Given the description of an element on the screen output the (x, y) to click on. 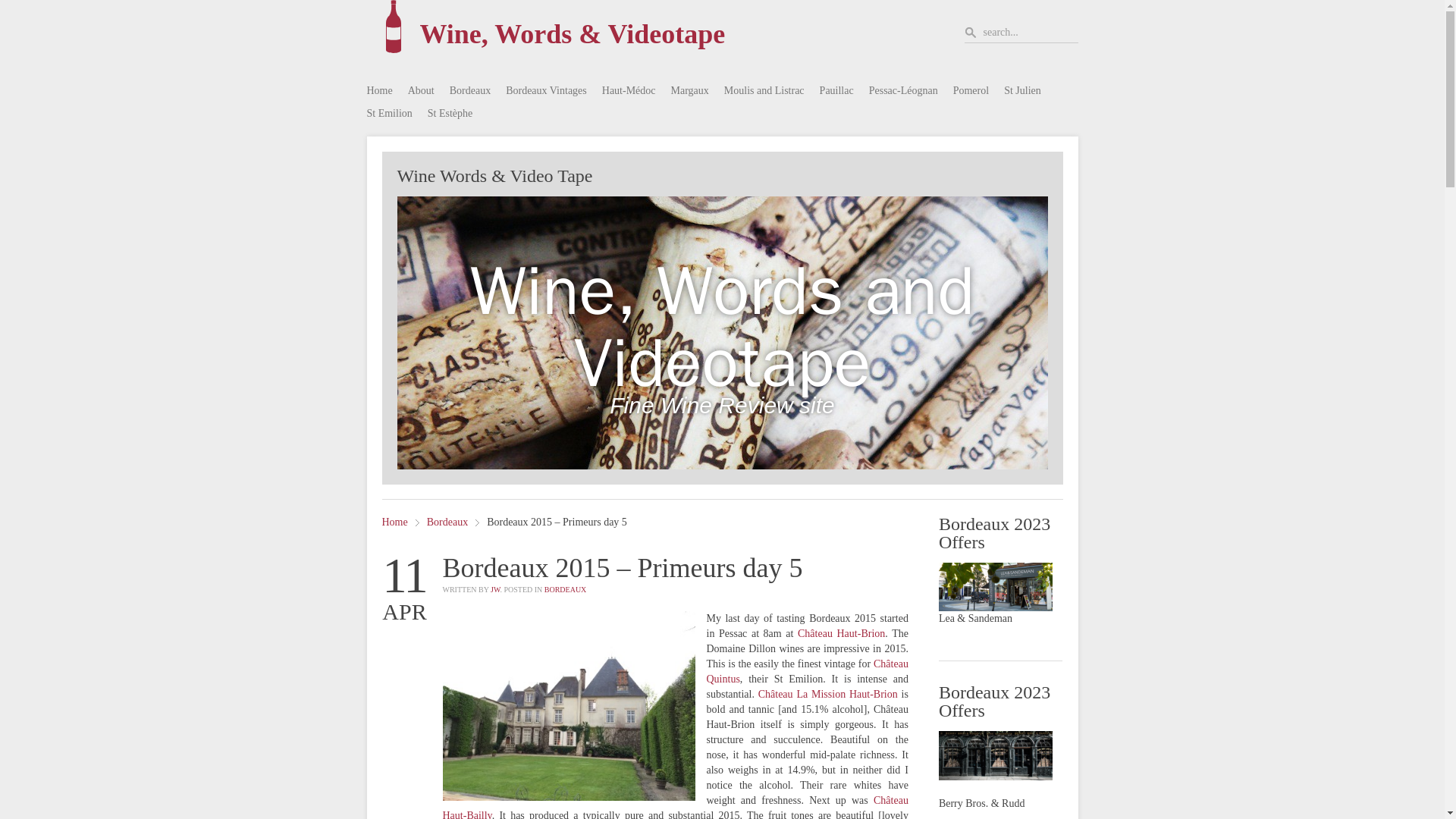
Bordeaux (469, 90)
Reset (3, 2)
Bordeaux 2019 Offers (995, 586)
Bordeaux Vintages (545, 90)
About (420, 90)
JW (494, 589)
Bordeaux 2019 Offers (995, 755)
Margaux (690, 90)
Home (379, 90)
